Given the description of an element on the screen output the (x, y) to click on. 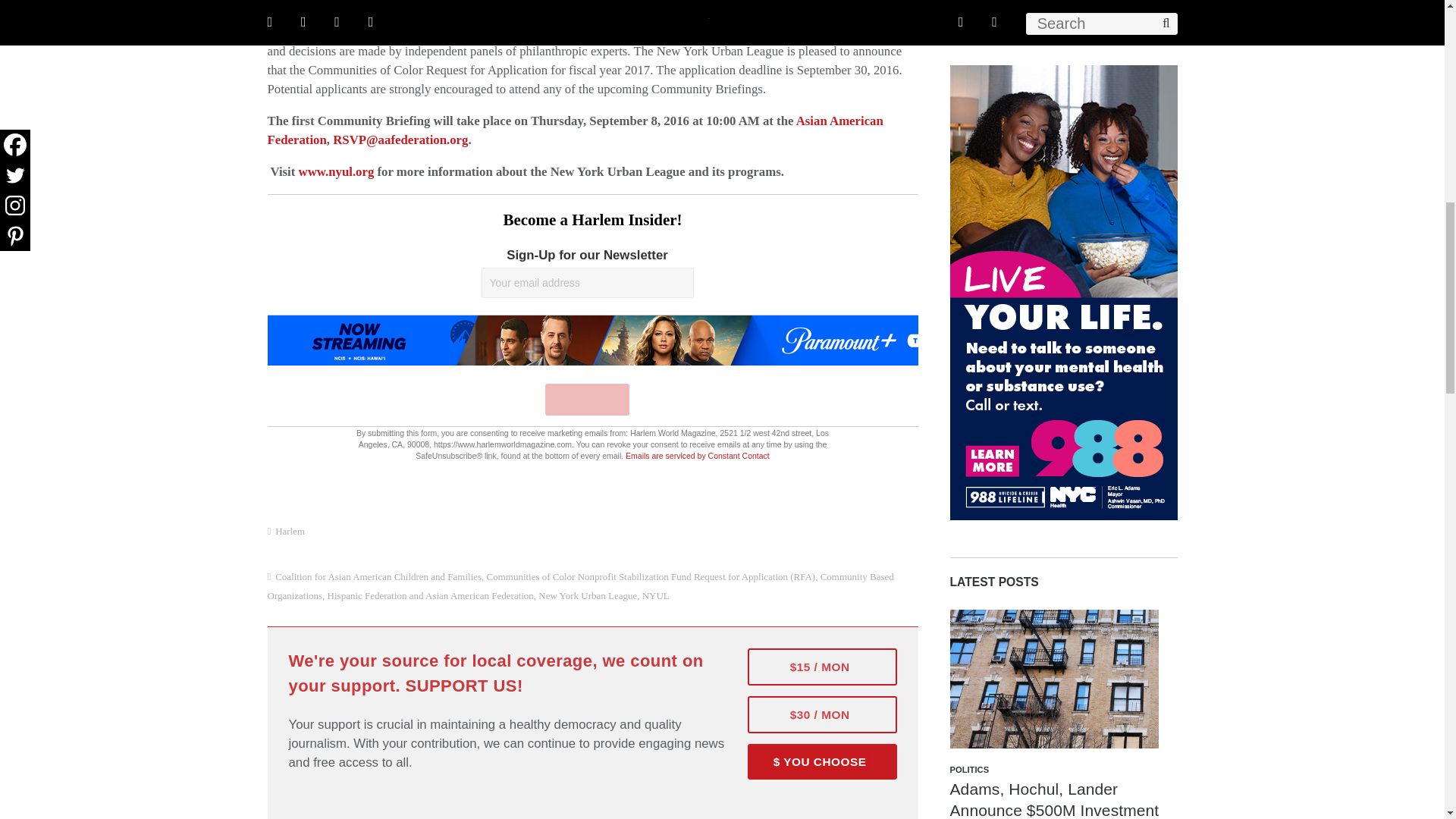
www.nyul.org (336, 171)
Community Based Organizations (579, 585)
NYUL (655, 595)
Hispanic Federation and Asian American Federation (430, 595)
Sign up (586, 399)
New York Urban League (587, 595)
Sign up (586, 399)
Harlem (289, 531)
Coalition for Asian American Children and Families (378, 576)
Asian American Federation (574, 130)
Emails are serviced by Constant Contact (698, 455)
